Given the description of an element on the screen output the (x, y) to click on. 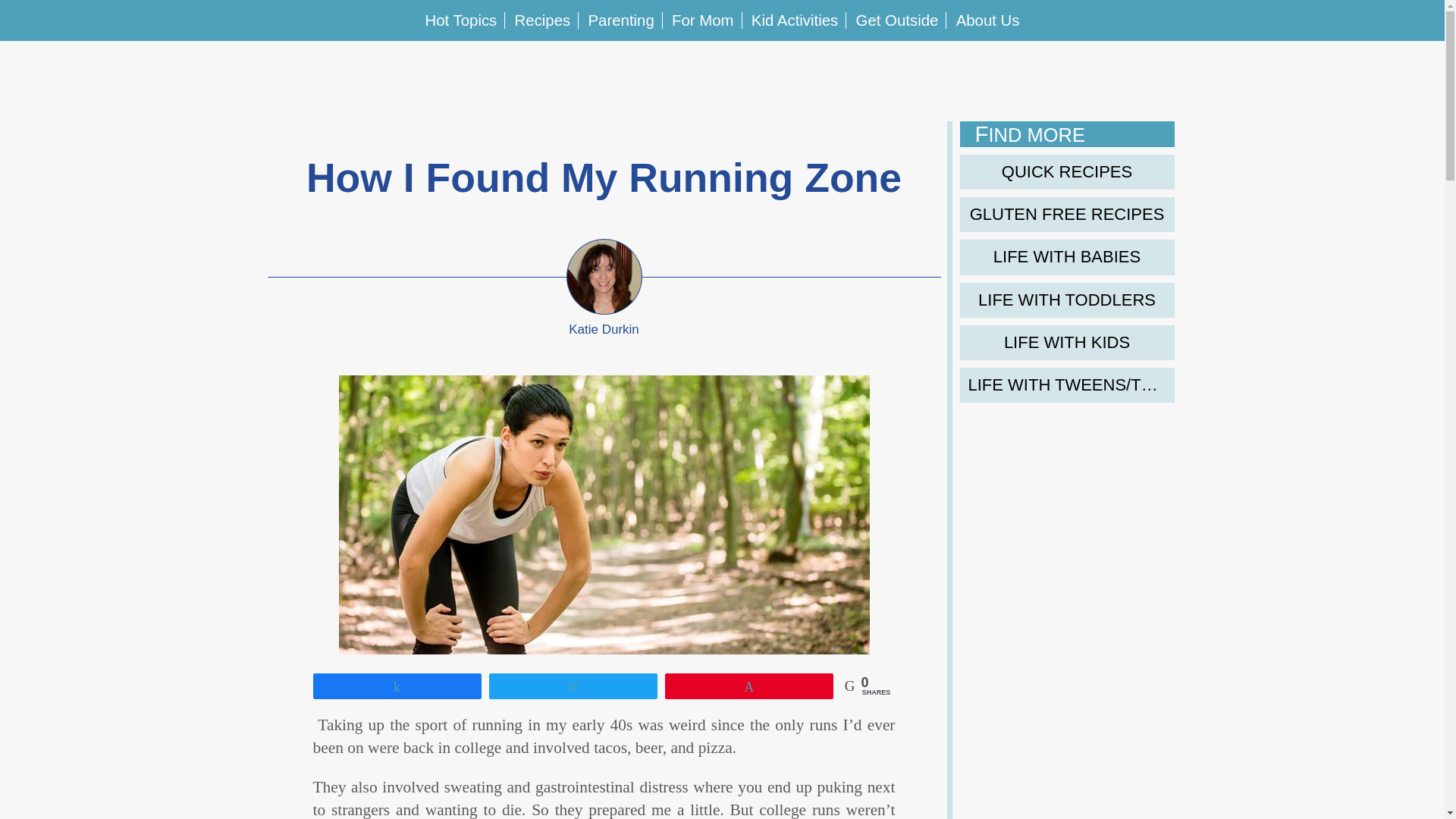
Parenting (620, 20)
Get Outside (897, 20)
LIFE WITH KIDS (1066, 342)
Life with babies (1066, 256)
Twitter (61, 71)
BonBon Submit (1365, 71)
About Us (1280, 71)
LIFE WITH BABIES (1066, 256)
Pinteret (103, 71)
For Mom (702, 20)
